Given the description of an element on the screen output the (x, y) to click on. 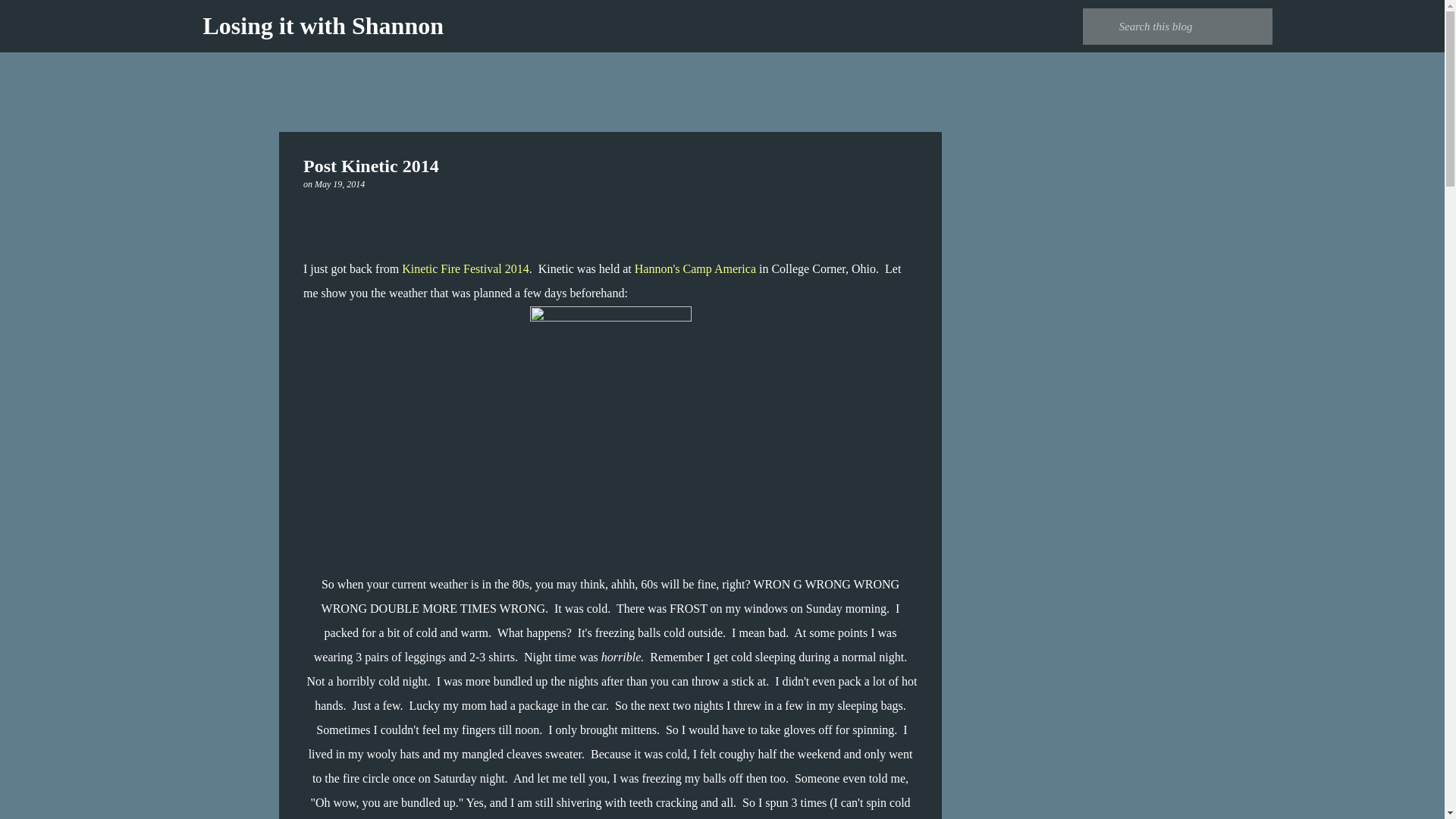
permanent link (339, 184)
May 19, 2014 (339, 184)
Hannon's Camp America (694, 268)
Kinetic Fire Festival 2014 (465, 268)
Losing it with Shannon (323, 25)
